Given the description of an element on the screen output the (x, y) to click on. 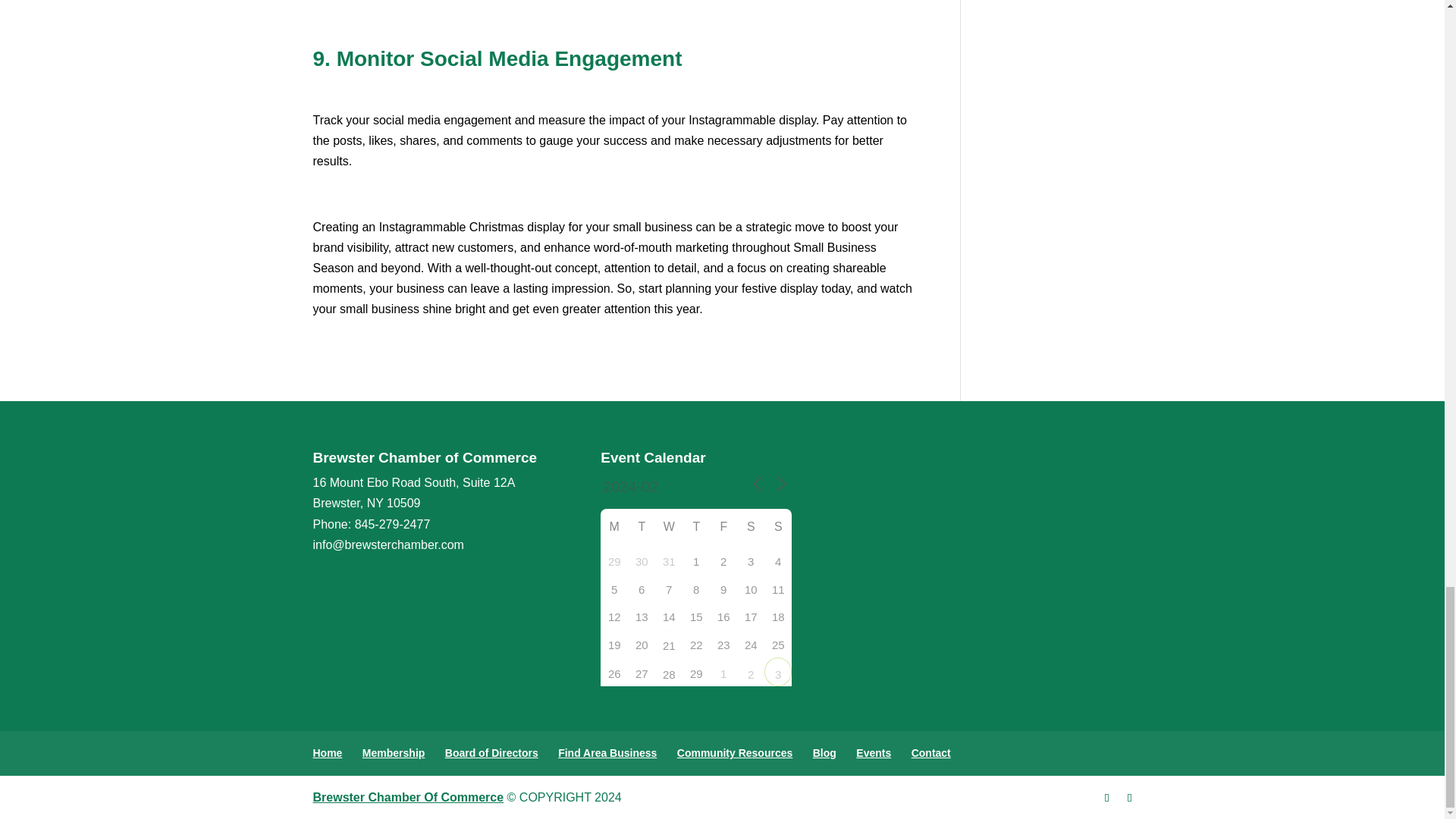
February Member Meeting (668, 641)
21 (668, 641)
31 (668, 558)
28 (668, 671)
2024-02 (671, 486)
2 (750, 671)
